Given the description of an element on the screen output the (x, y) to click on. 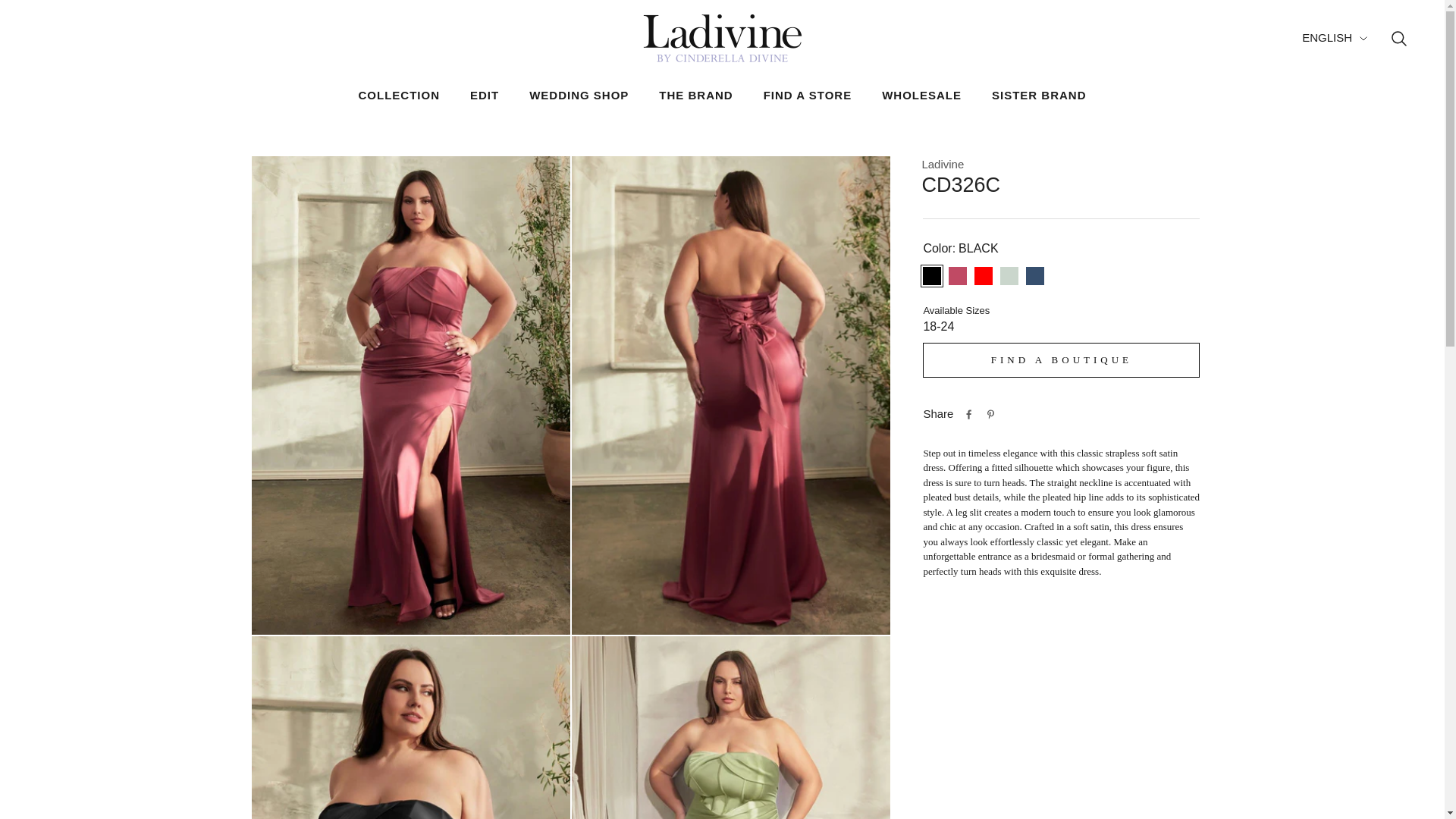
Ladivine by Cinderella Divine (722, 38)
